Given the description of an element on the screen output the (x, y) to click on. 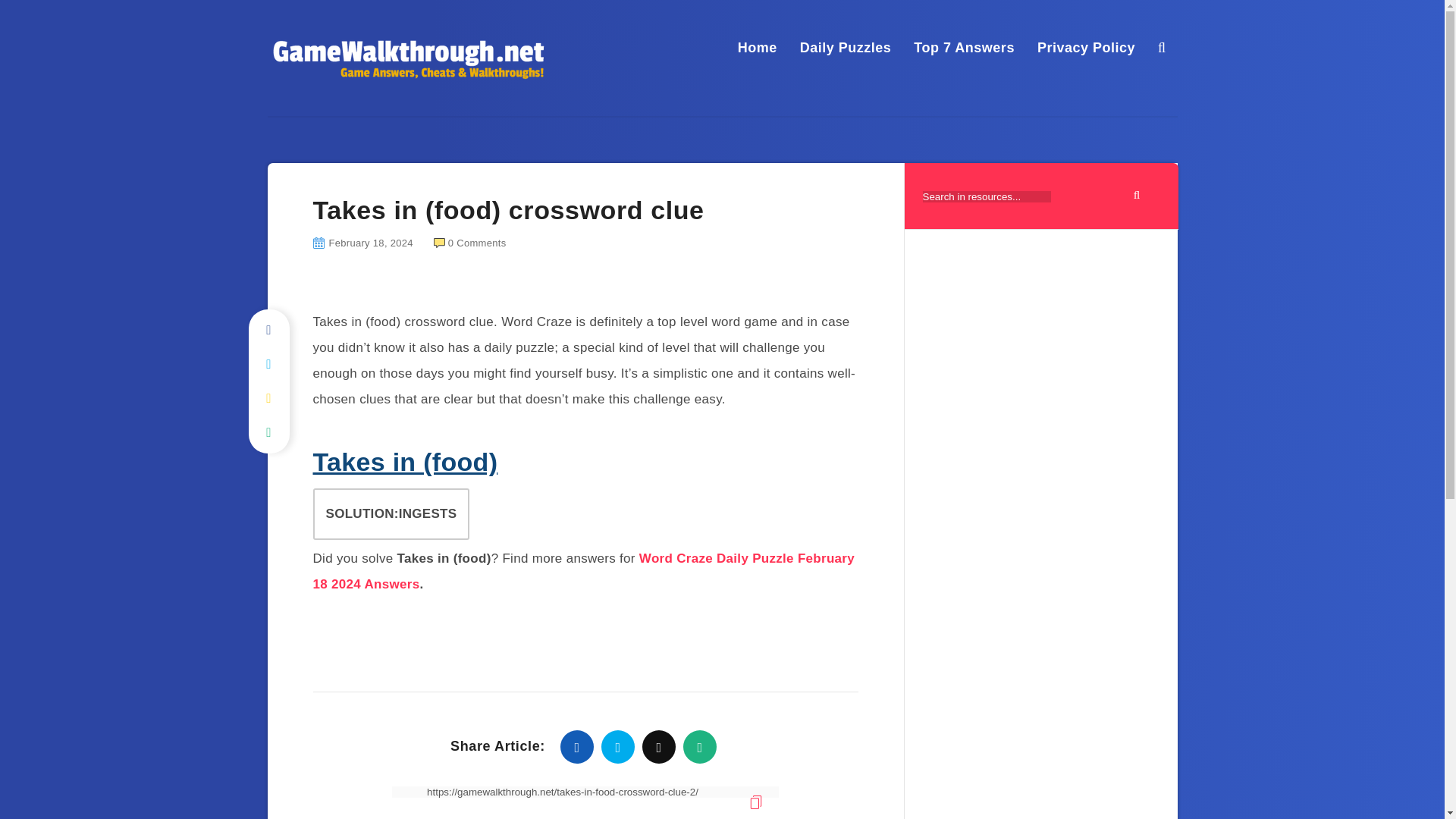
Word Craze Daily Puzzle February 18 2024 Answers (583, 571)
Home (757, 47)
Go to comments (469, 242)
Daily Puzzles (845, 47)
Privacy Policy (1085, 47)
0 Comments (469, 242)
Top 7 Answers (964, 47)
